Given the description of an element on the screen output the (x, y) to click on. 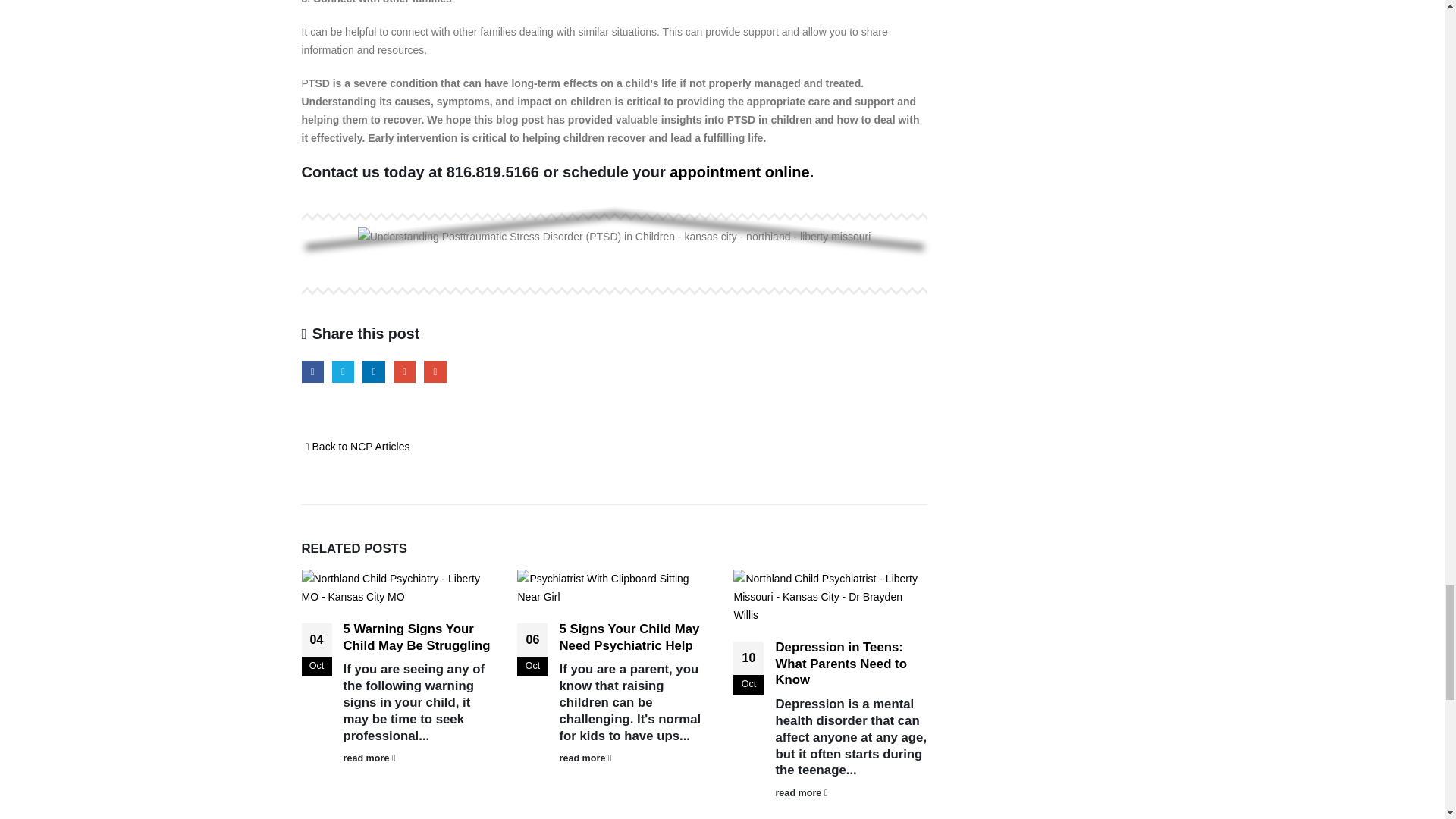
Email (434, 372)
Twitter (342, 372)
LinkedIn (373, 372)
Email (434, 372)
Twitter (342, 372)
Facebook (312, 372)
read more (850, 792)
Facebook (312, 372)
5 Signs Your Child May Need Psychiatric Help (628, 636)
read more (418, 758)
5 Warning Signs Your Child May Be Struggling (415, 636)
appointment online (739, 171)
LinkedIn (373, 372)
read more (634, 758)
Depression in Teens: What Parents Need to Know (839, 663)
